Given the description of an element on the screen output the (x, y) to click on. 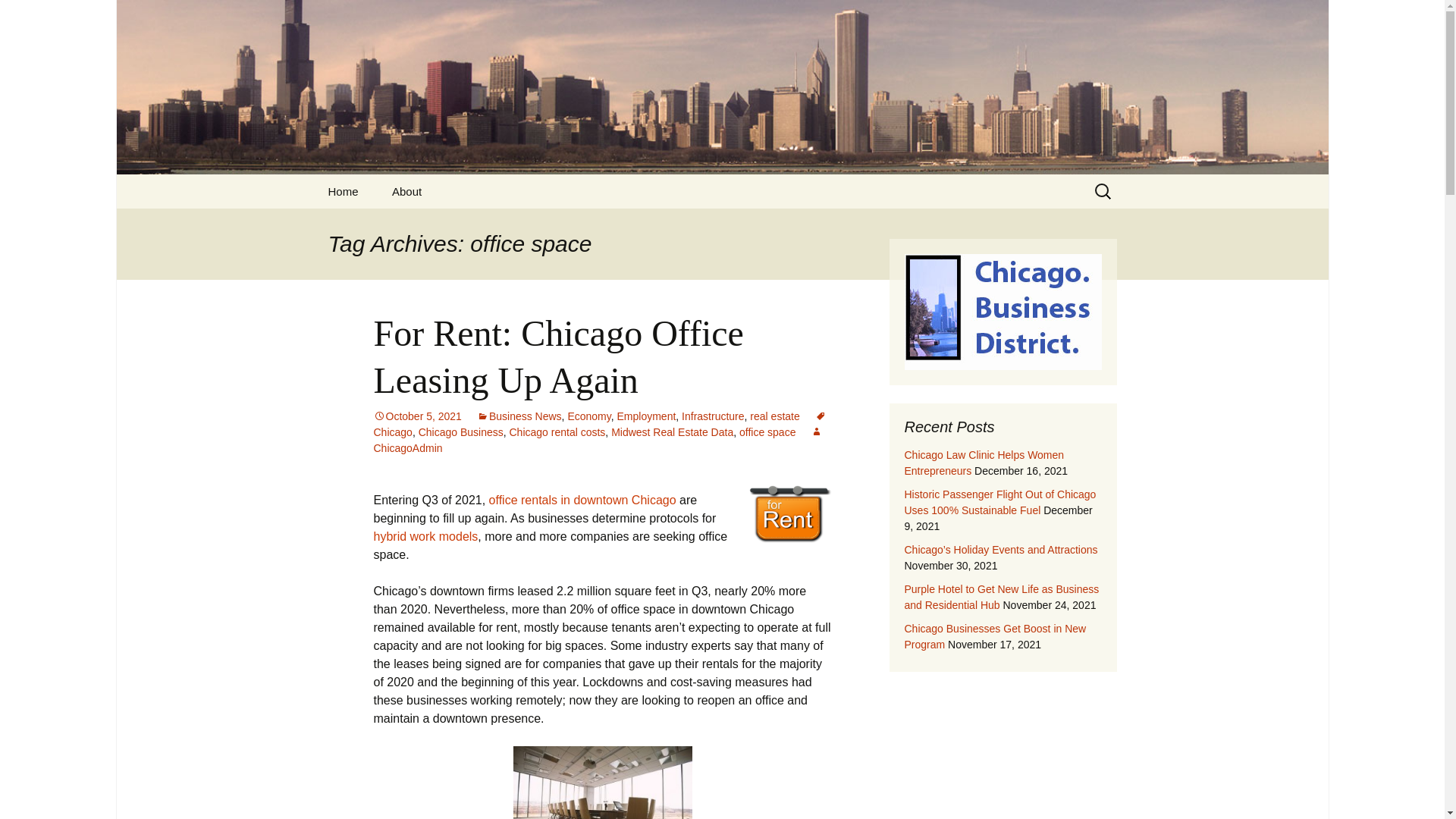
Permalink to For Rent: Chicago Office Leasing Up Again (416, 416)
real estate (774, 416)
About (406, 191)
October 5, 2021 (416, 416)
hybrid work models (424, 535)
For Rent: Chicago Office Leasing Up Again (557, 356)
Home (342, 191)
Employment (647, 416)
